Given the description of an element on the screen output the (x, y) to click on. 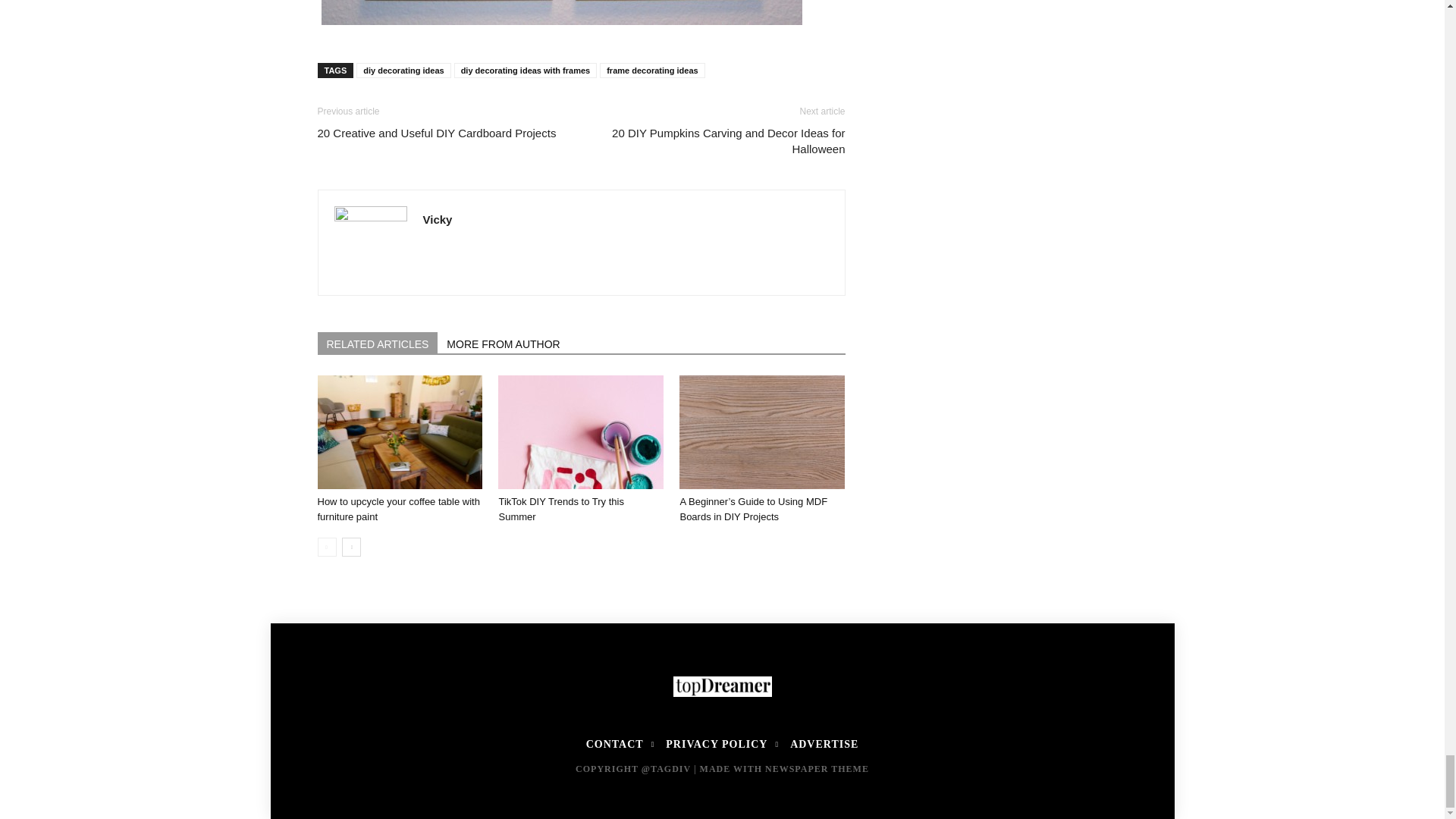
How to upcycle your coffee table with furniture paint (399, 431)
How to upcycle your coffee table with furniture paint (398, 509)
TikTok DIY Trends to Try this Summer (560, 509)
TikTok DIY Trends to Try this Summer (580, 431)
